Given the description of an element on the screen output the (x, y) to click on. 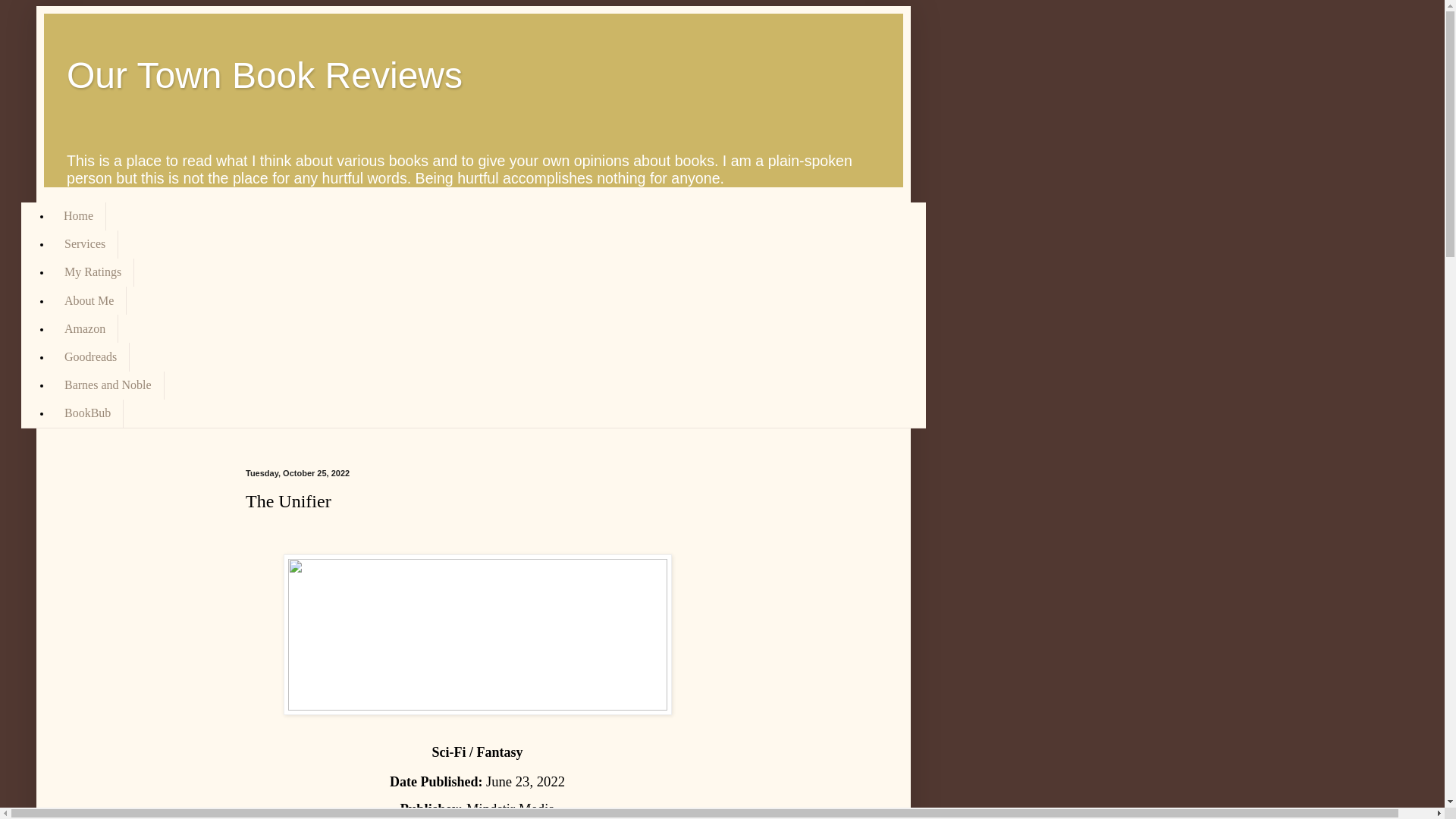
Services (83, 244)
Home (78, 215)
BookBub (86, 413)
My Ratings (91, 272)
Our Town Book Reviews (264, 75)
Amazon (83, 328)
Goodreads (89, 357)
About Me (88, 300)
Barnes and Noble (107, 385)
